Given the description of an element on the screen output the (x, y) to click on. 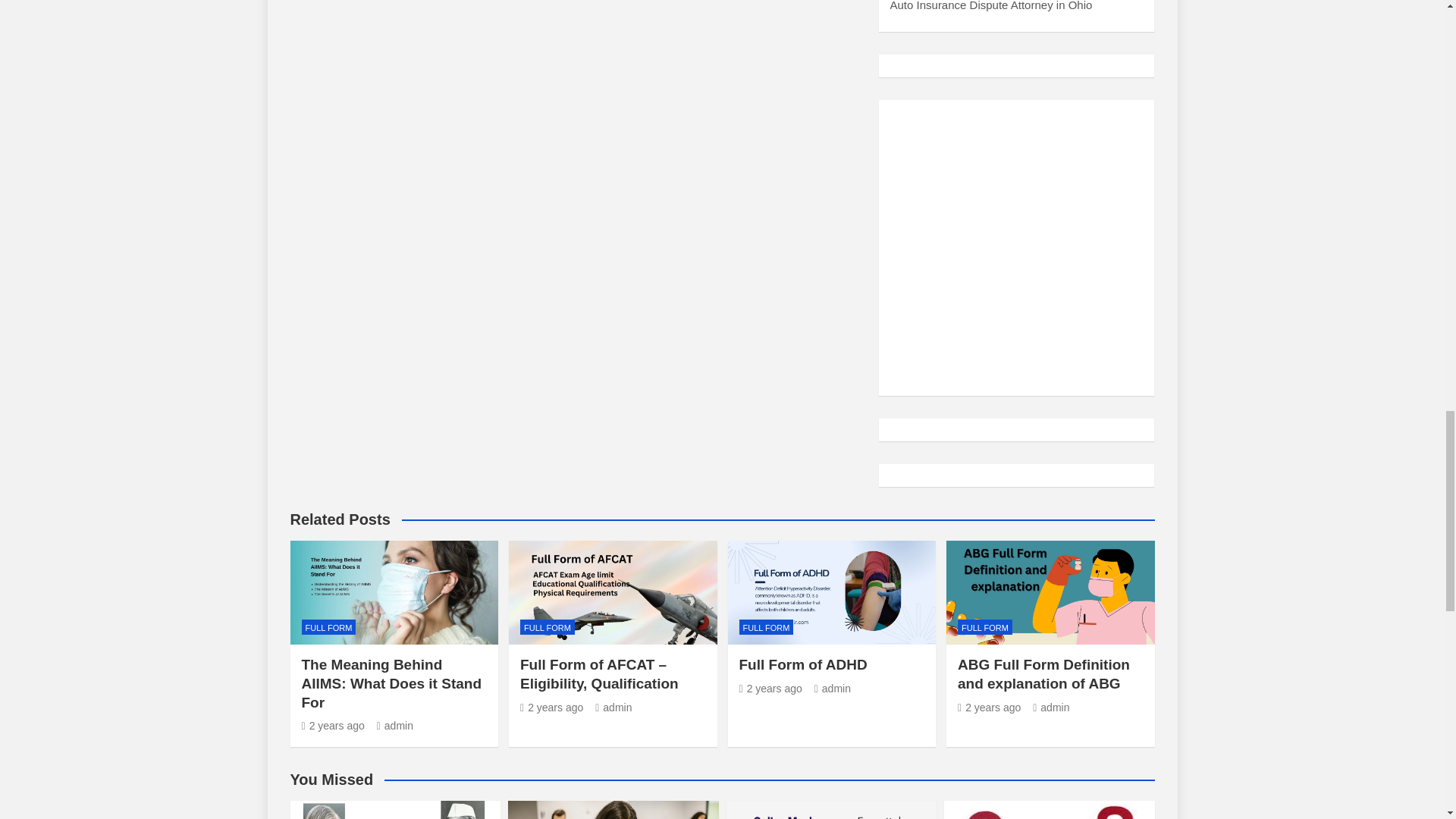
Full Form of ADHD (770, 688)
The Meaning Behind AIIMS: What Does it Stand For (333, 725)
ABG Full Form Definition and explanation of ABG (989, 707)
